Given the description of an element on the screen output the (x, y) to click on. 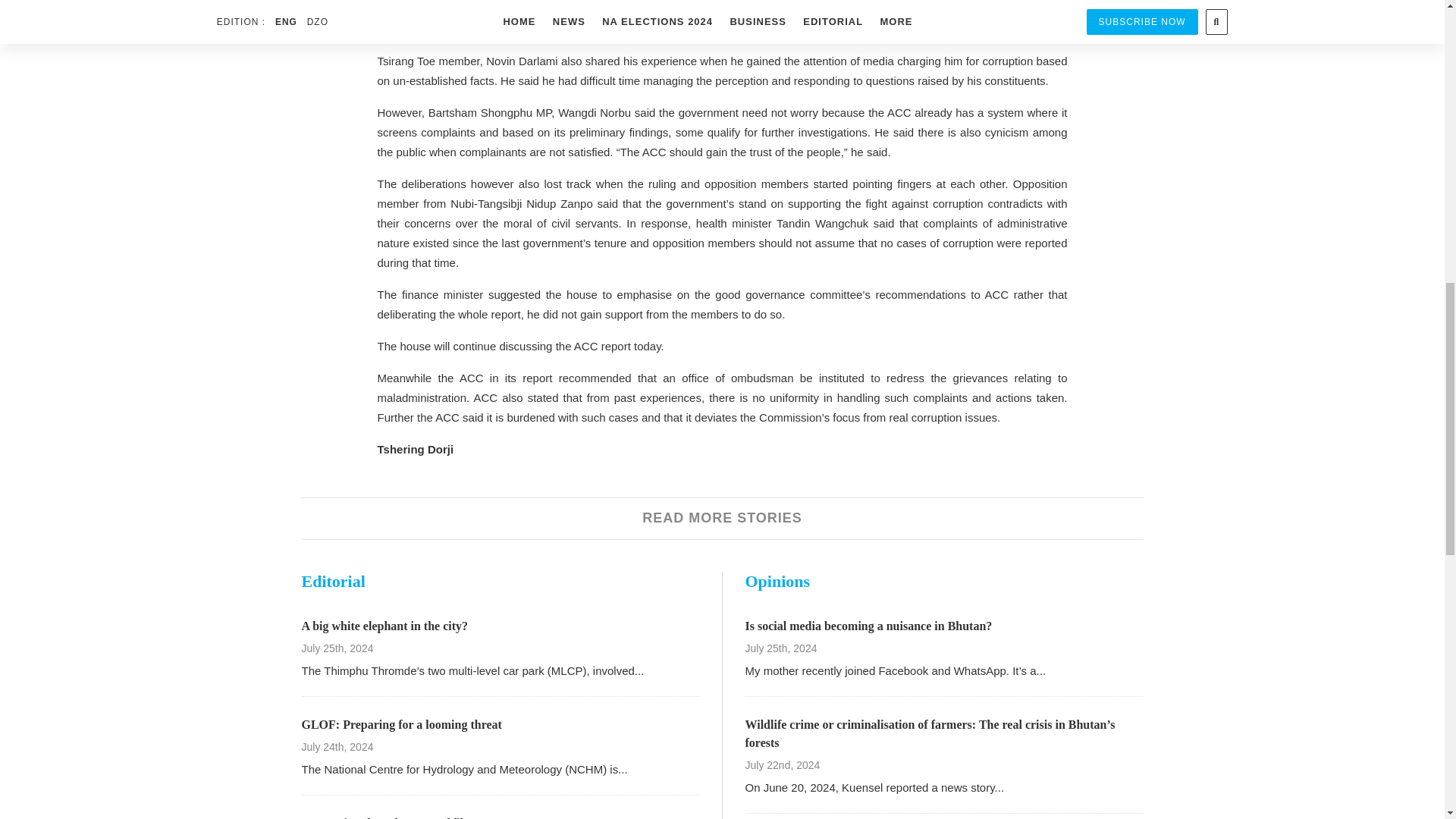
Is social media becoming a nuisance in Bhutan? (867, 625)
GLOF: Preparing for a looming threat (401, 724)
Harnessing the soft power of films (390, 817)
A big white elephant in the city? (384, 625)
